Given the description of an element on the screen output the (x, y) to click on. 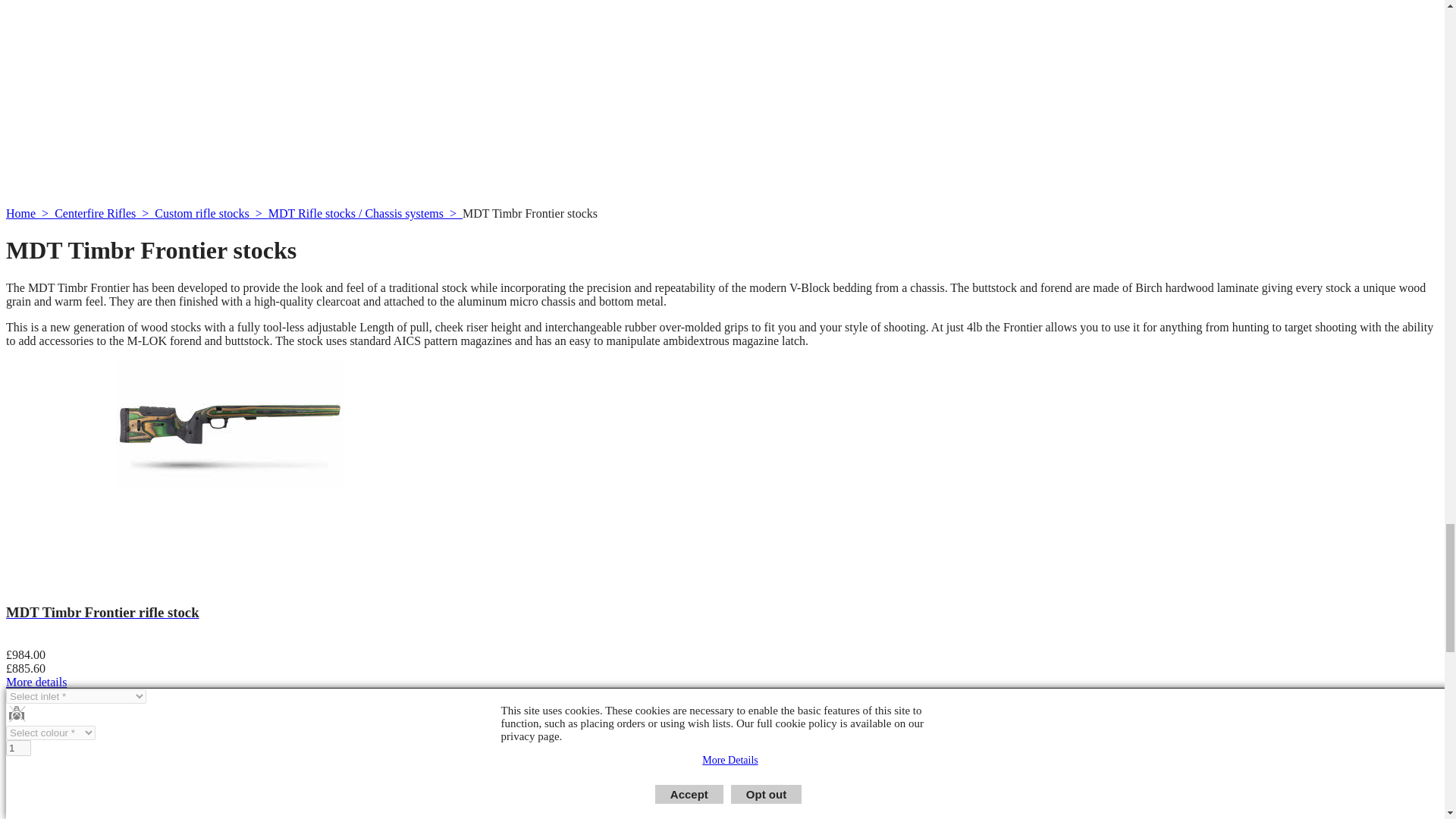
1 (17, 747)
